Given the description of an element on the screen output the (x, y) to click on. 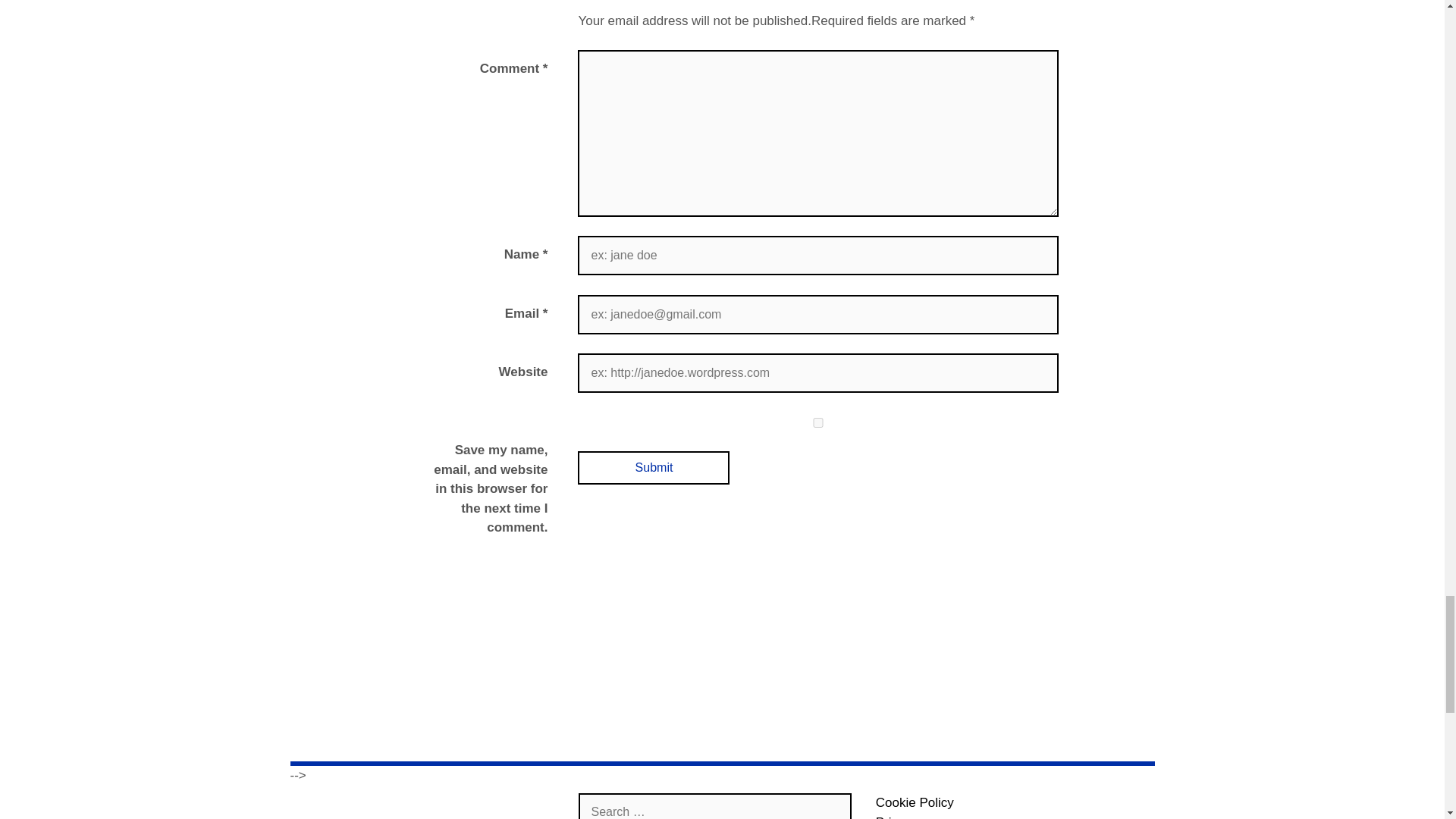
Submit (653, 467)
yes (818, 422)
